Given the description of an element on the screen output the (x, y) to click on. 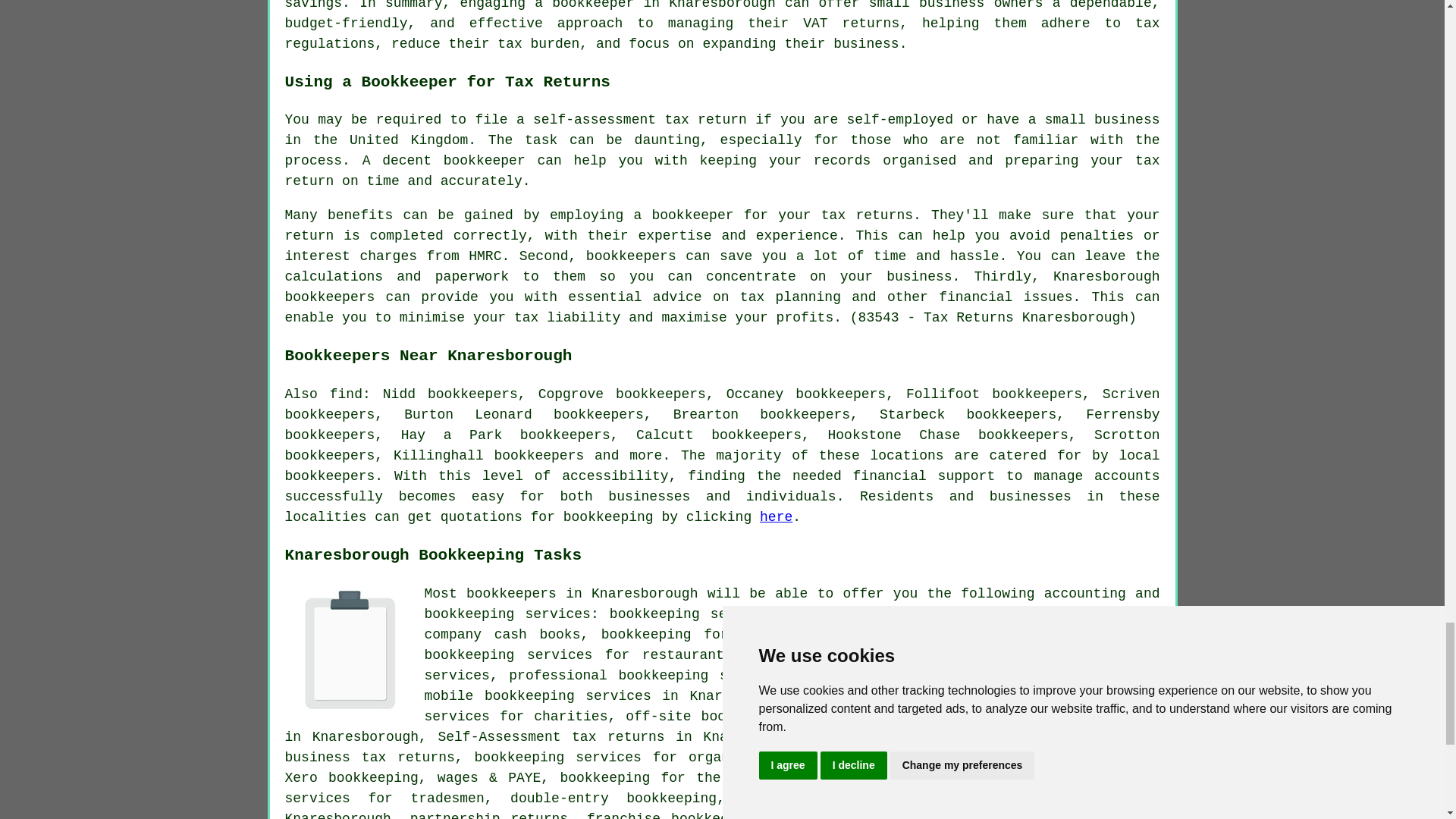
financial (889, 476)
bookkeepers (330, 476)
